Given the description of an element on the screen output the (x, y) to click on. 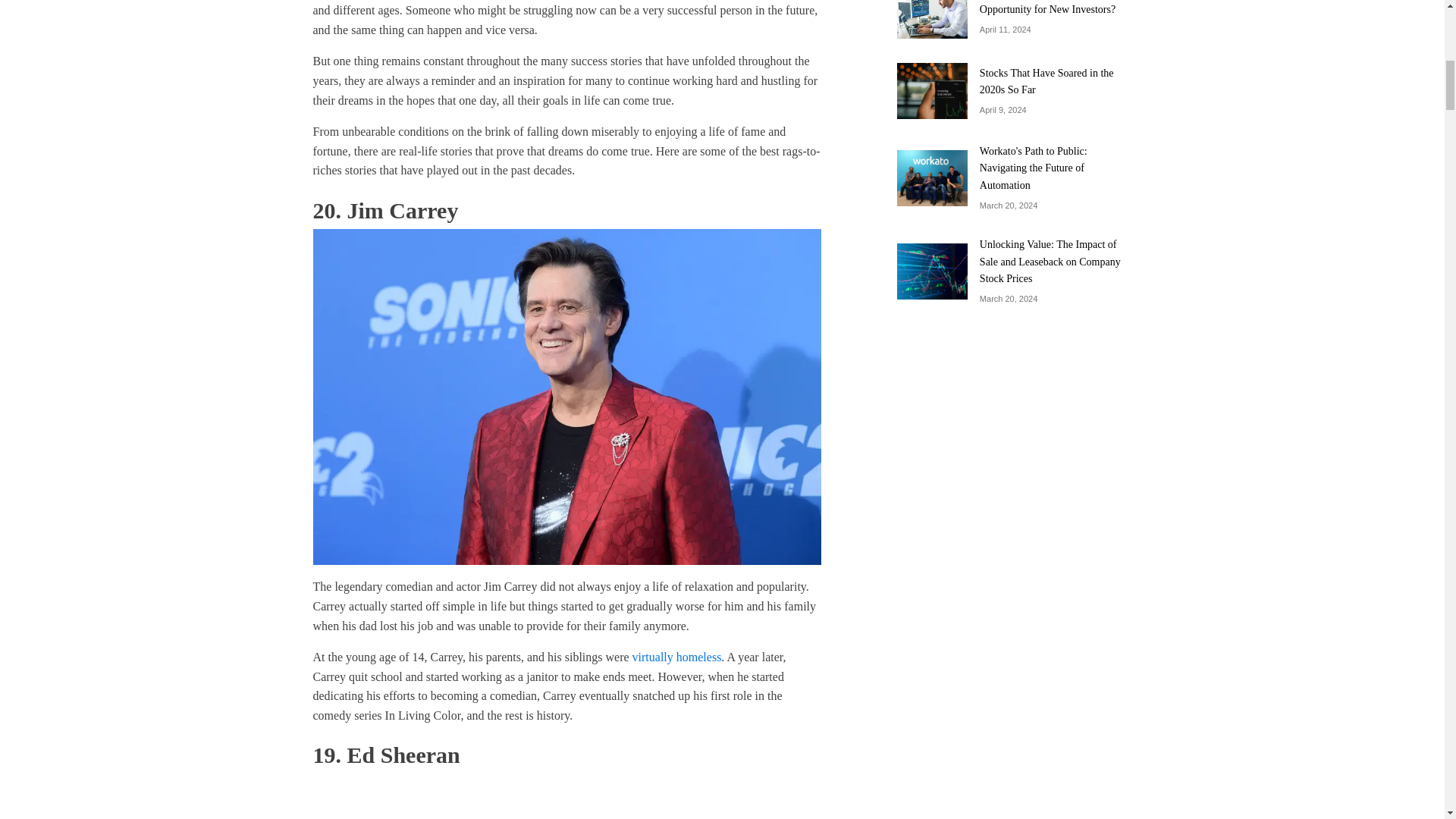
virtually homeless (676, 656)
